Given the description of an element on the screen output the (x, y) to click on. 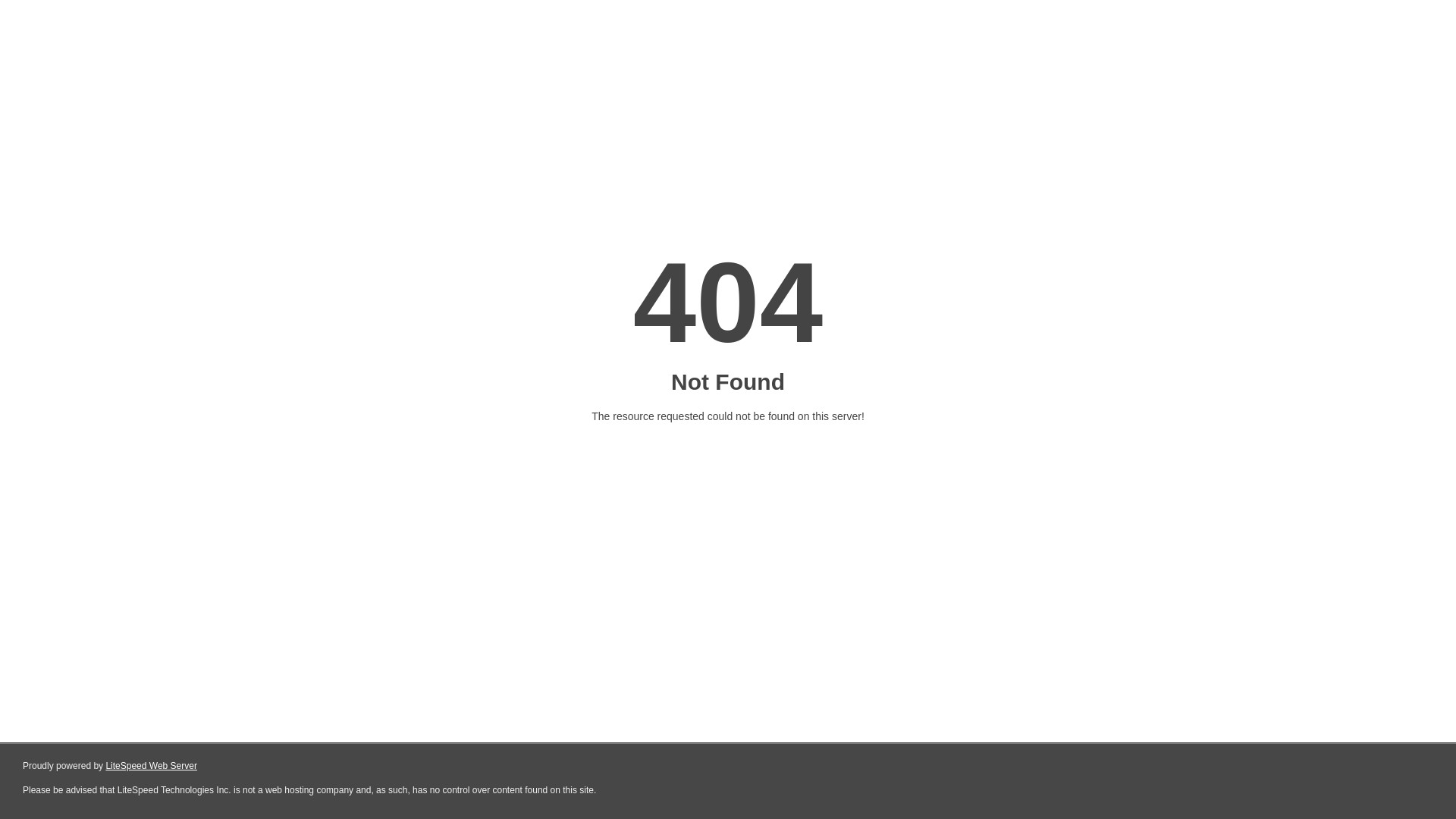
LiteSpeed Web Server Element type: text (151, 765)
